Given the description of an element on the screen output the (x, y) to click on. 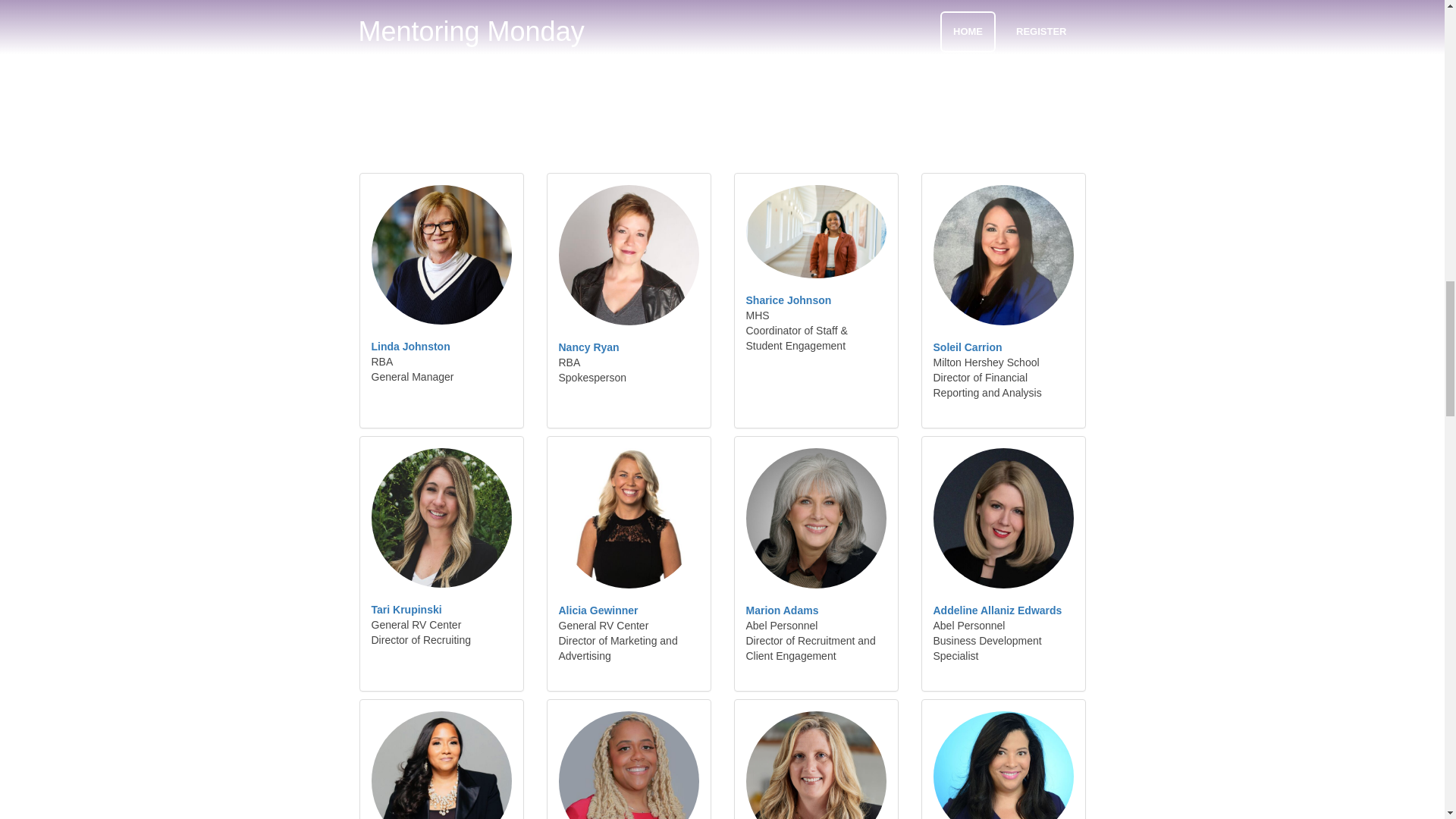
Speaker Details (967, 346)
Speaker Details (410, 346)
Marion Adams (781, 610)
Linda Johnston (410, 346)
Speaker Details (788, 300)
Speaker Details (406, 609)
Tari Krupinski (406, 609)
Speaker Details (781, 610)
Alicia Gewinner (597, 610)
Speaker Details (997, 610)
